Given the description of an element on the screen output the (x, y) to click on. 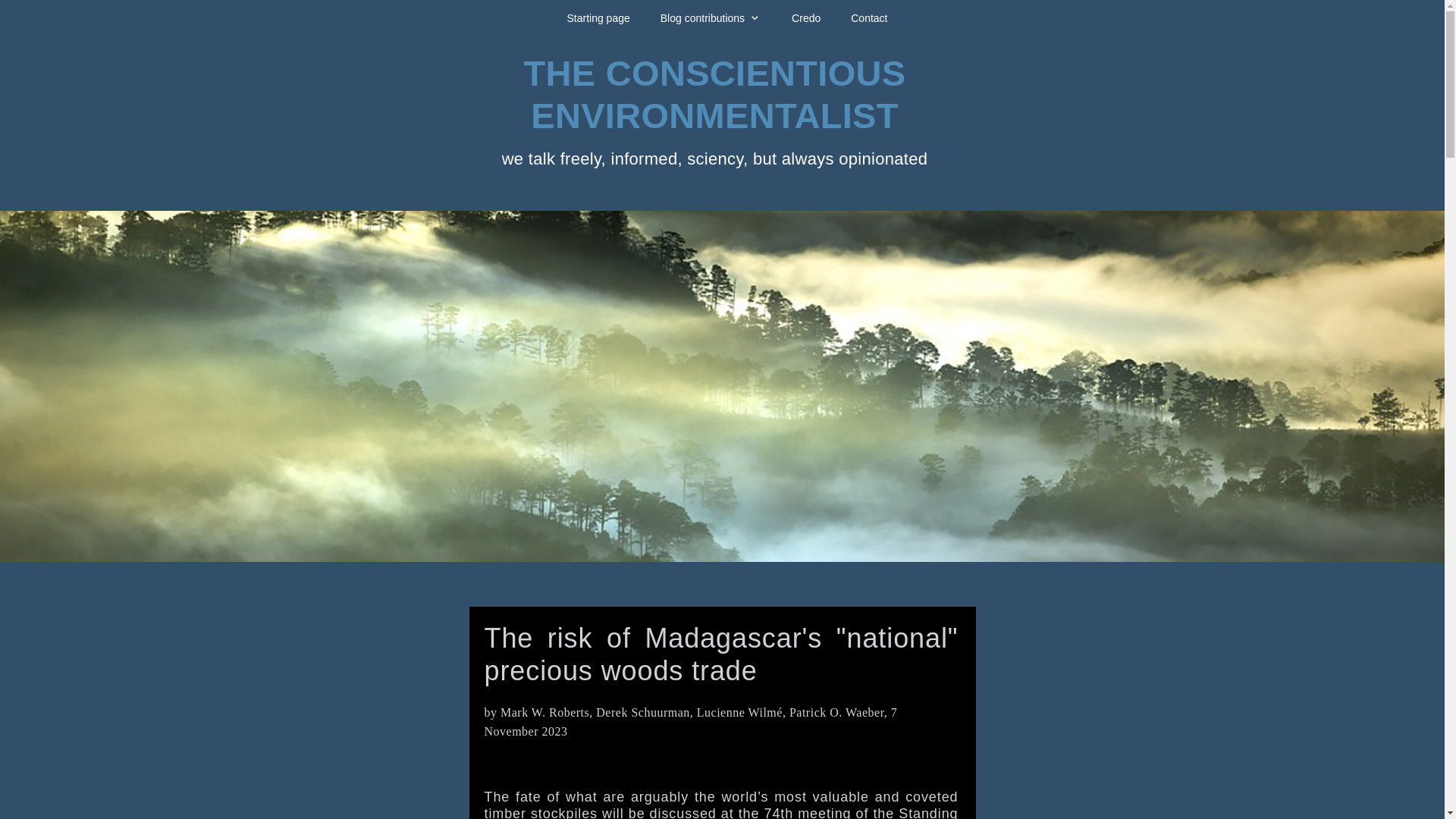
Blog contributions (710, 18)
Starting page (598, 18)
